Given the description of an element on the screen output the (x, y) to click on. 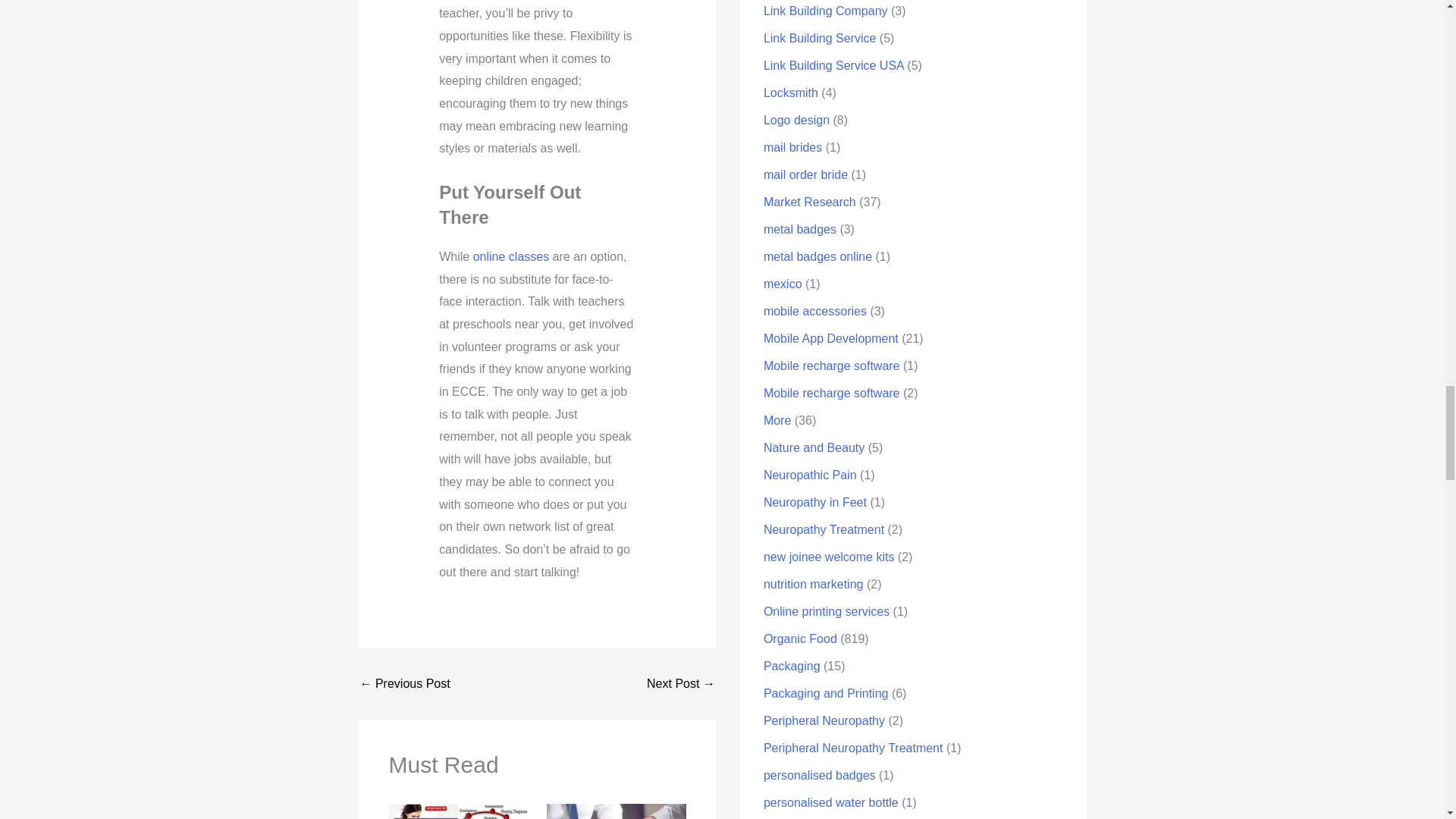
How To Make Mobile Recharge Online (404, 684)
